Given the description of an element on the screen output the (x, y) to click on. 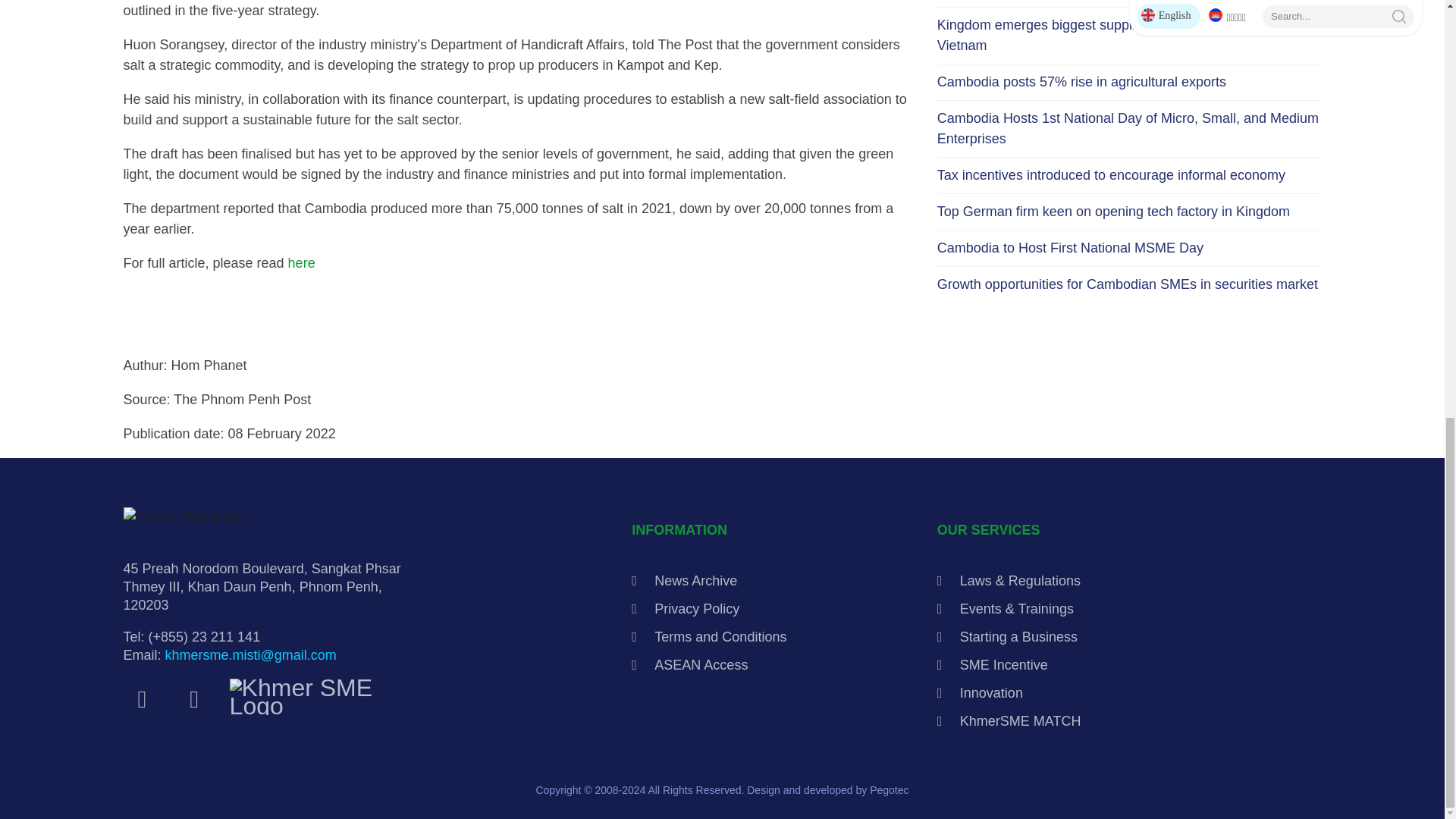
here (301, 263)
